Given the description of an element on the screen output the (x, y) to click on. 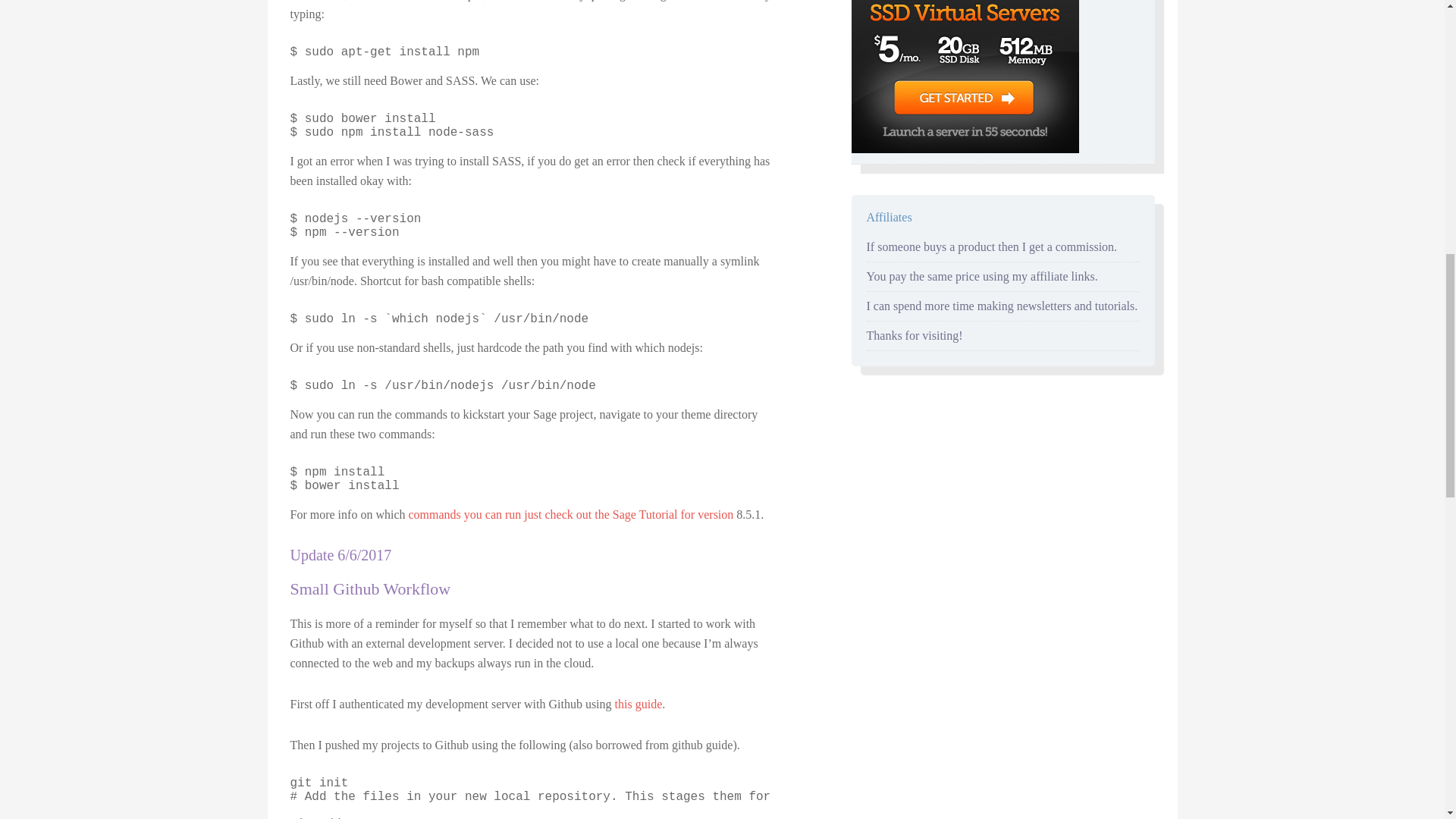
this guide (638, 703)
